Given the description of an element on the screen output the (x, y) to click on. 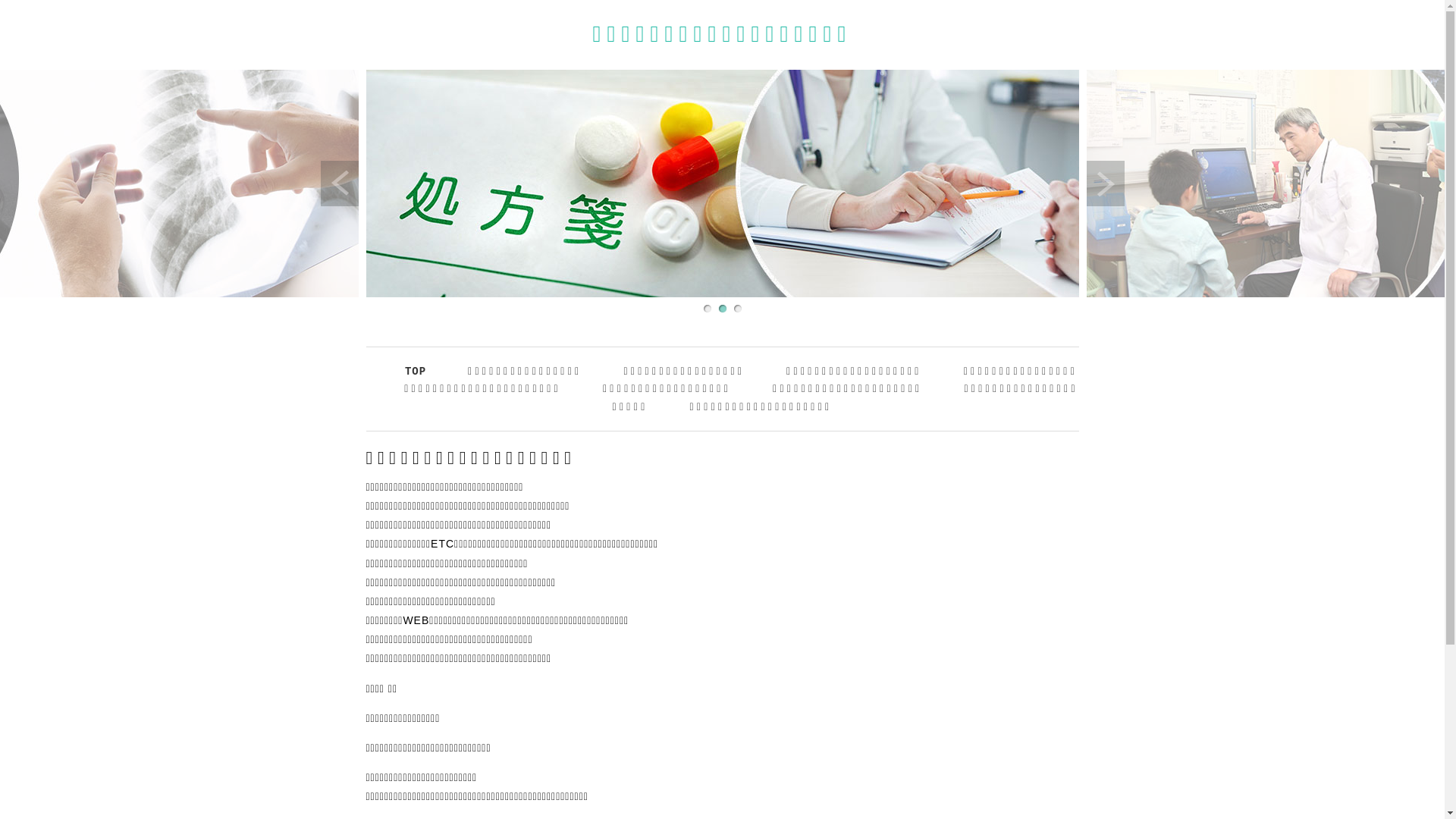
TOP Element type: text (415, 371)
